Given the description of an element on the screen output the (x, y) to click on. 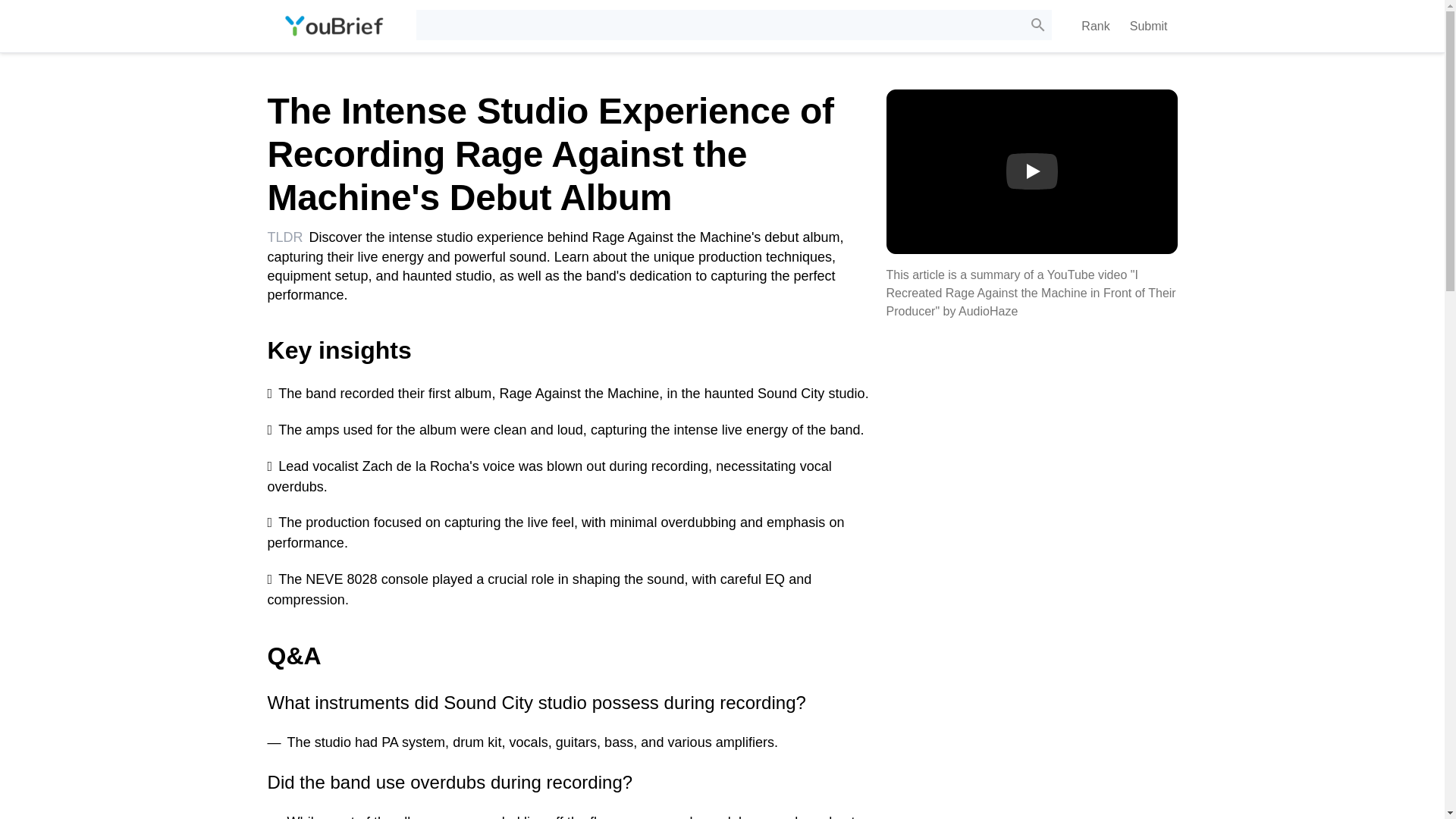
Rank (1095, 25)
Submit (1148, 25)
